Given the description of an element on the screen output the (x, y) to click on. 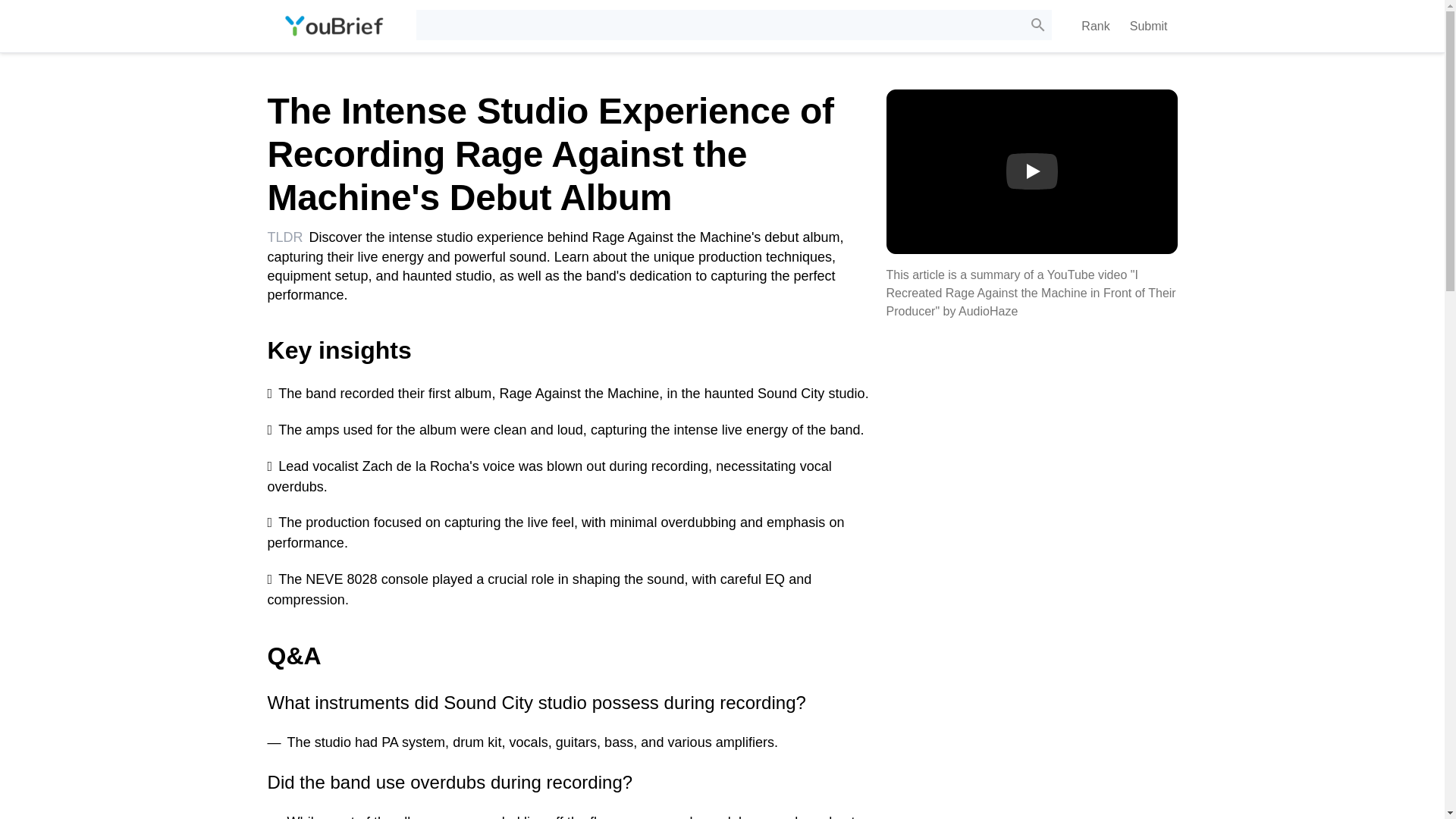
Rank (1095, 25)
Submit (1148, 25)
